Given the description of an element on the screen output the (x, y) to click on. 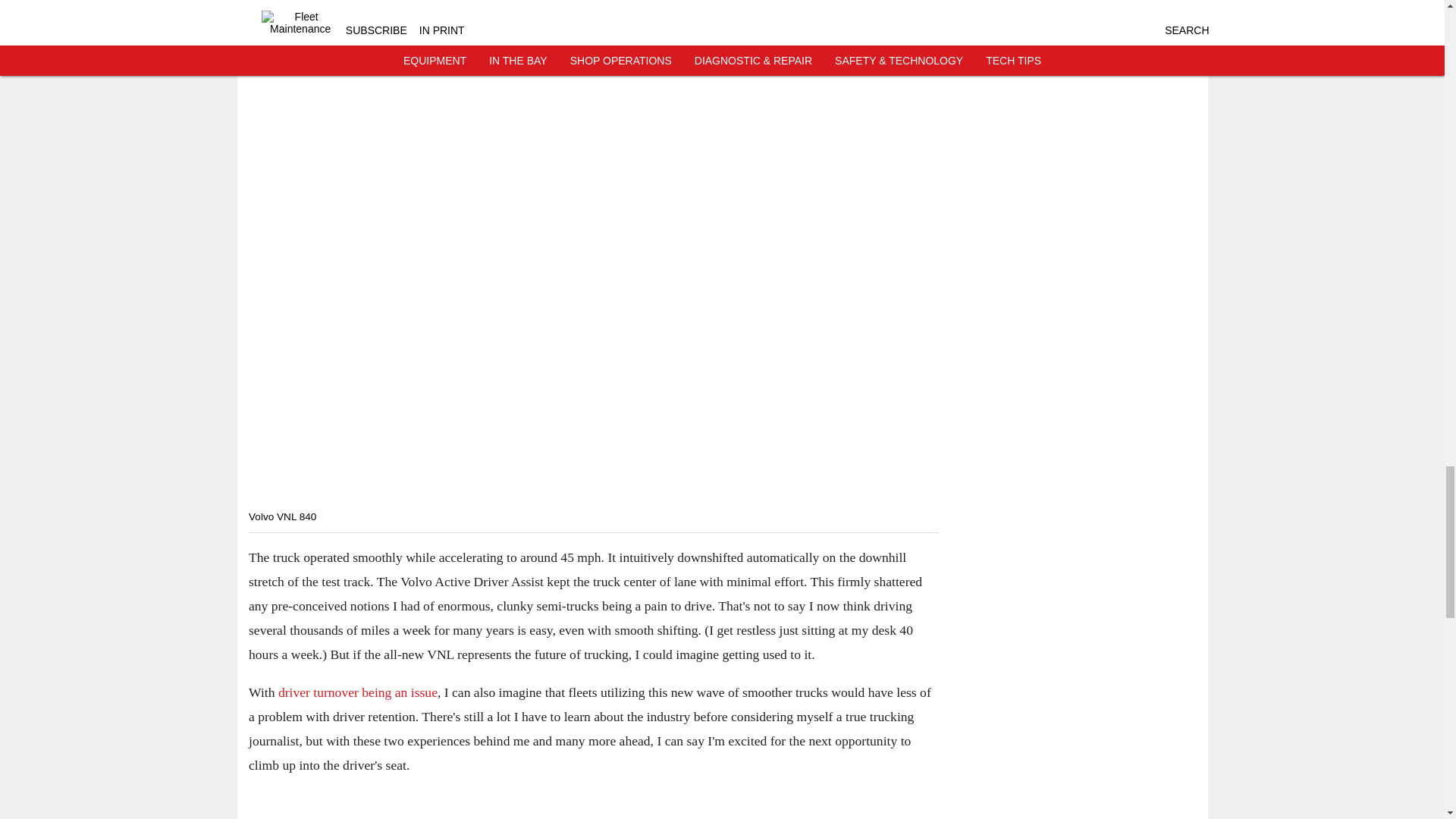
driver turnover being an issue (357, 691)
